Given the description of an element on the screen output the (x, y) to click on. 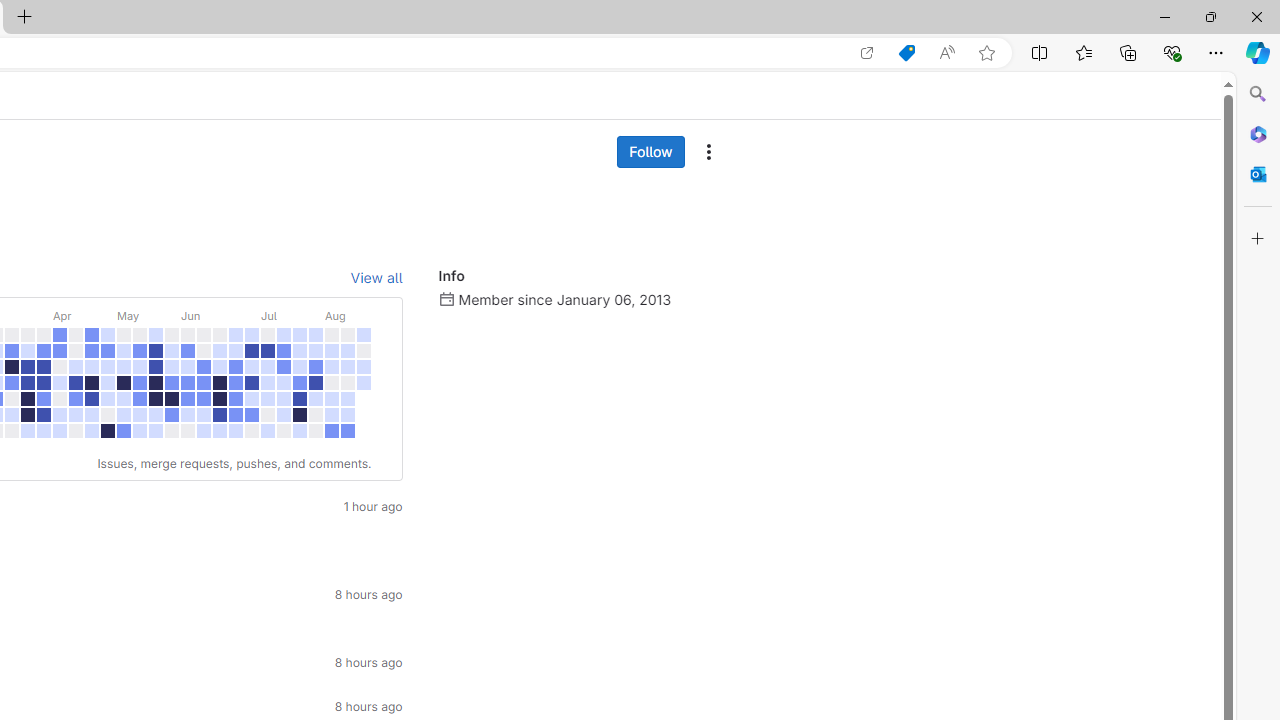
Open in app (867, 53)
